Given the description of an element on the screen output the (x, y) to click on. 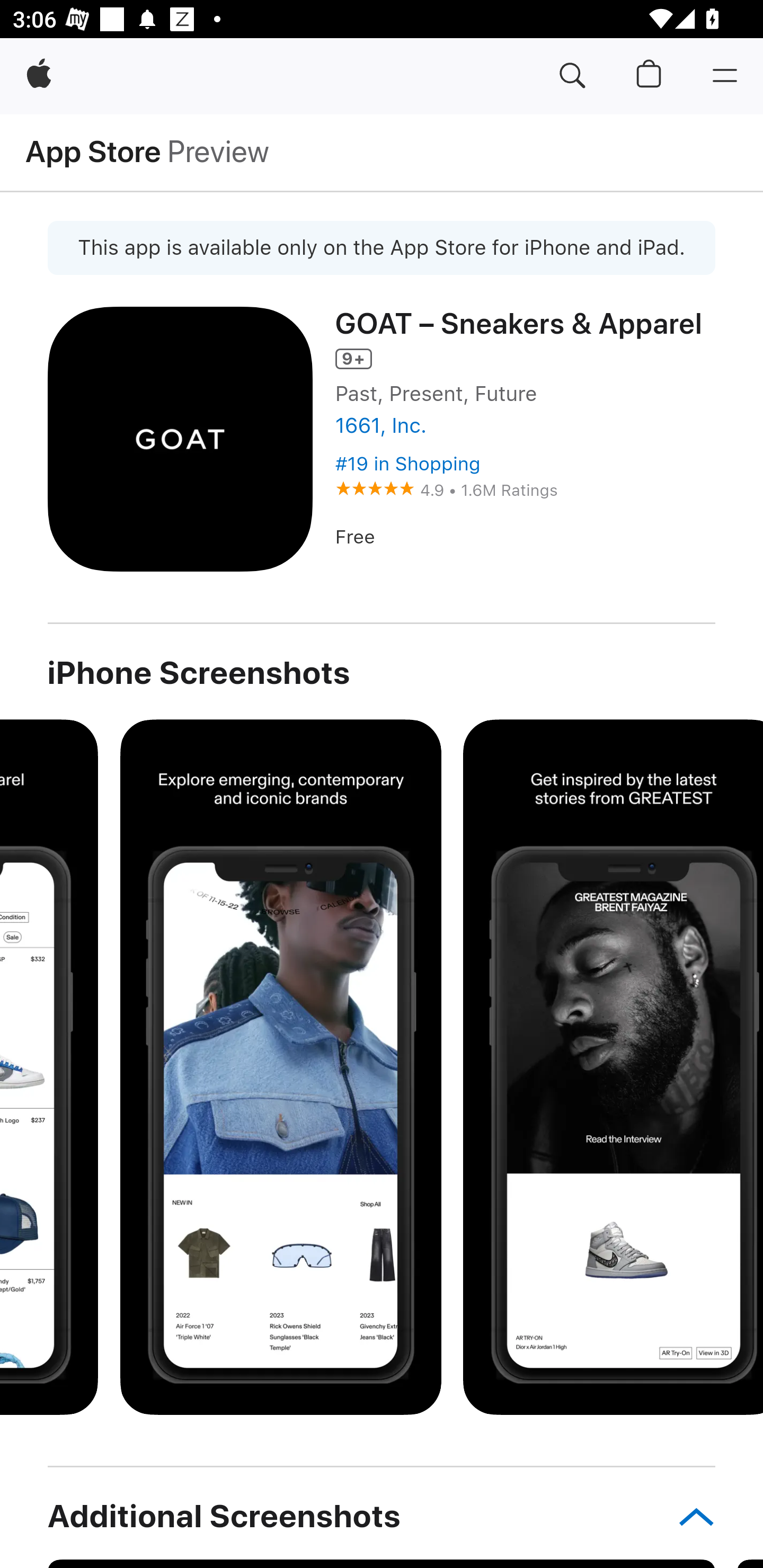
Apple (38, 75)
Search apple.com (572, 75)
Shopping Bag (648, 75)
Menu (724, 75)
App Store (93, 151)
1661, Inc. 1661, Inc. 1661, Inc. (524, 425)
#19 in Shopping (407, 463)
 (686, 1516)
